Given the description of an element on the screen output the (x, y) to click on. 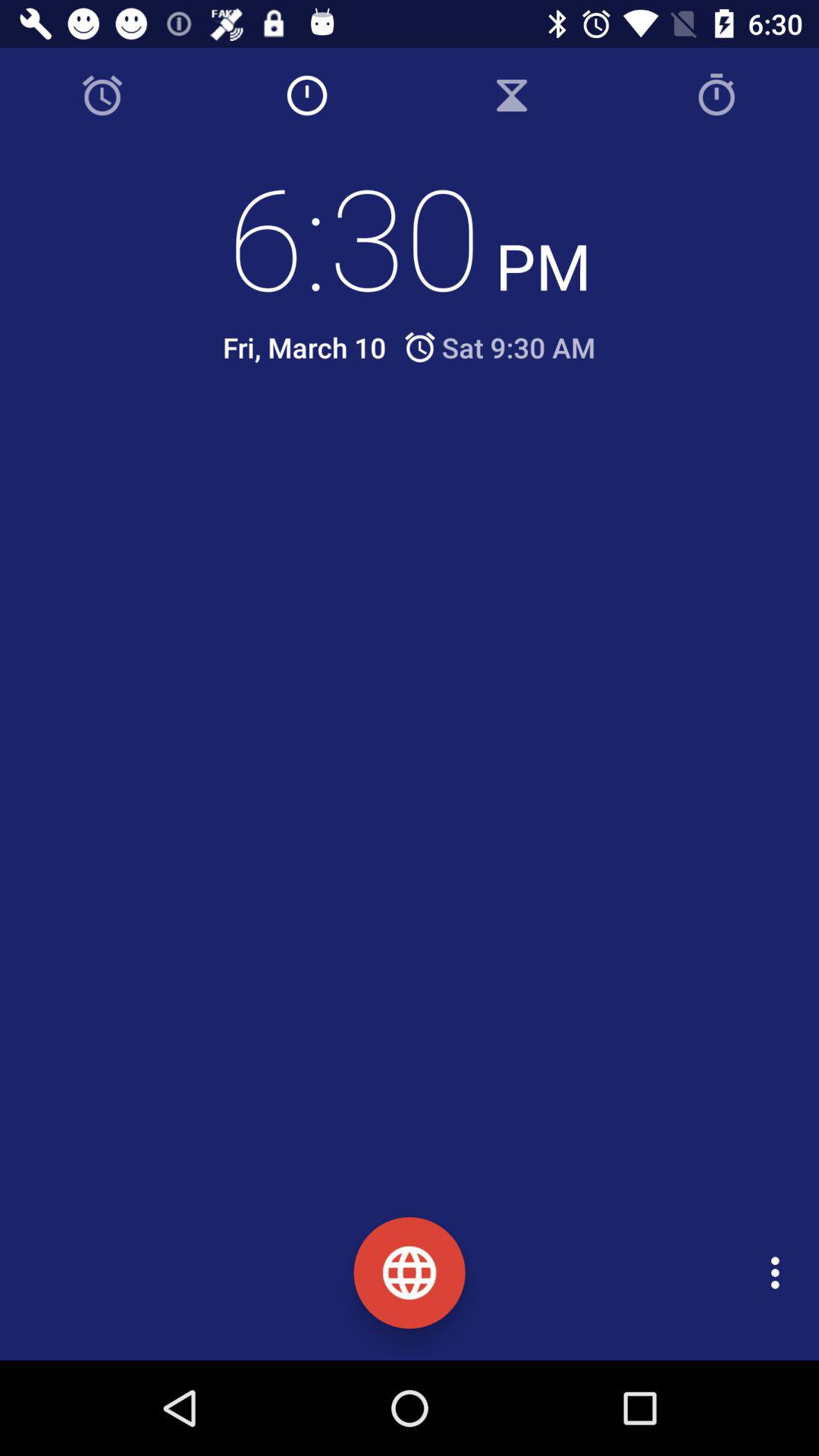
open fri, march 10 item (304, 347)
